Given the description of an element on the screen output the (x, y) to click on. 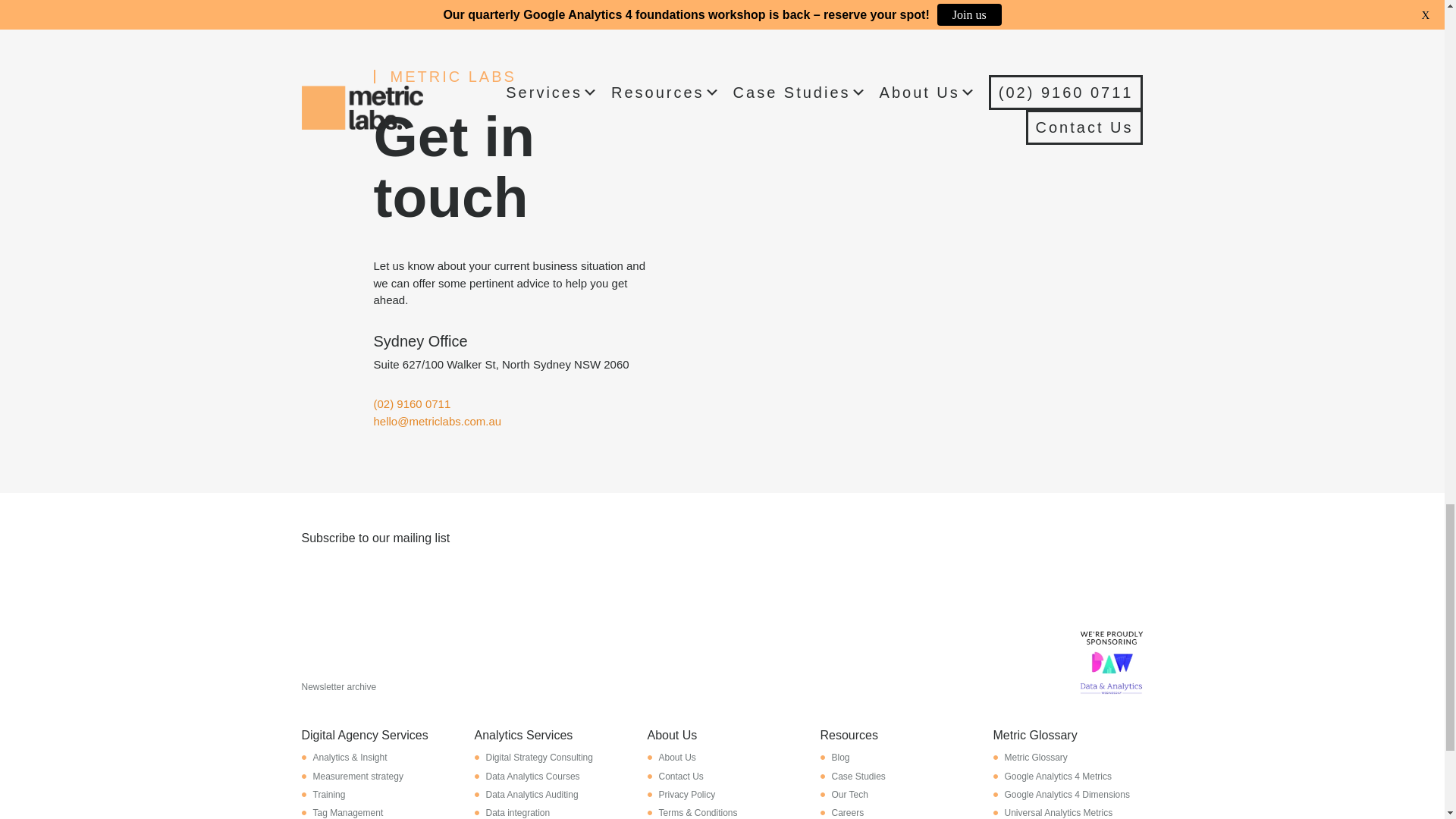
Form 0 (721, 619)
